Given the description of an element on the screen output the (x, y) to click on. 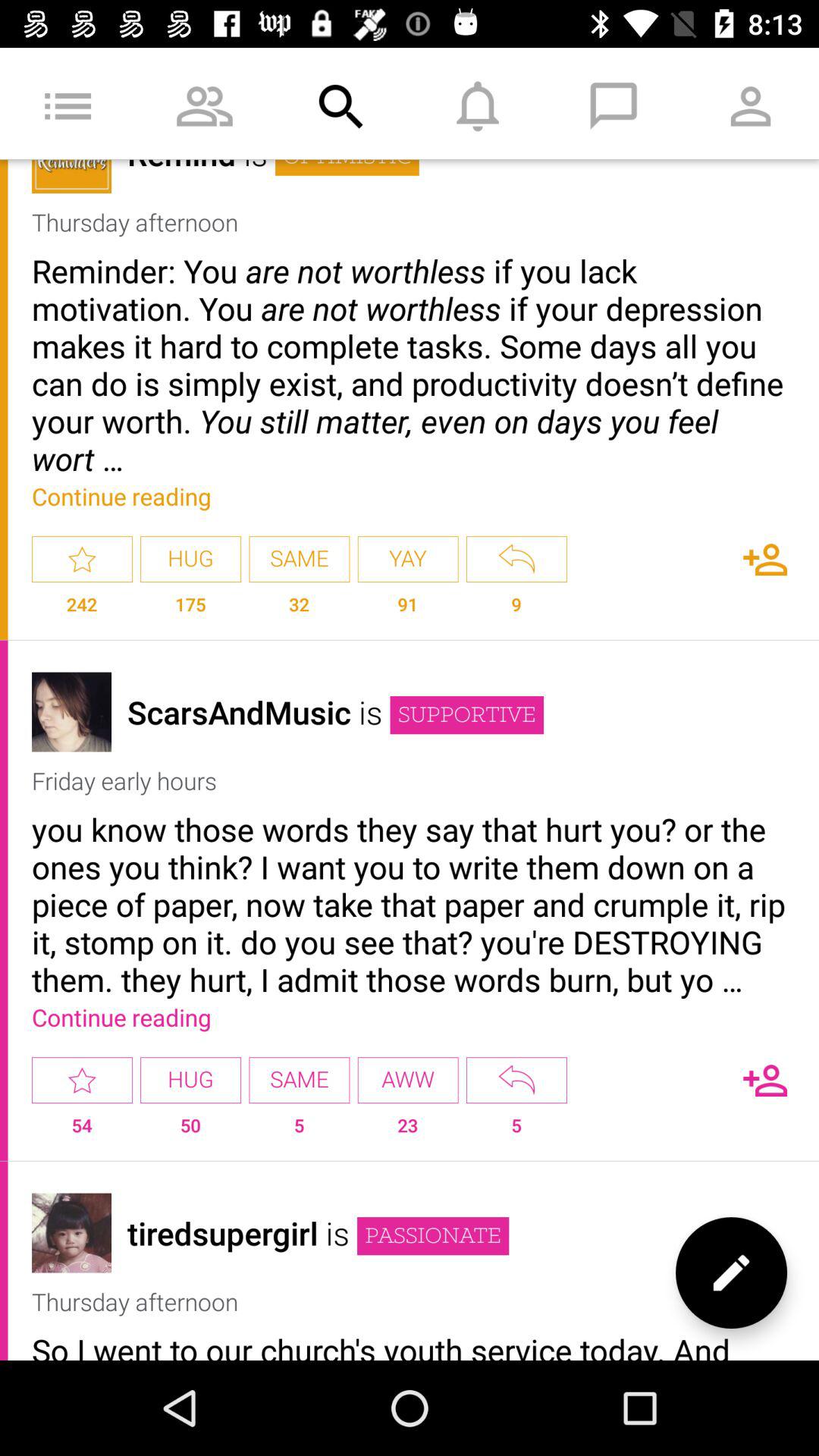
jump to the 242 item (81, 610)
